Given the description of an element on the screen output the (x, y) to click on. 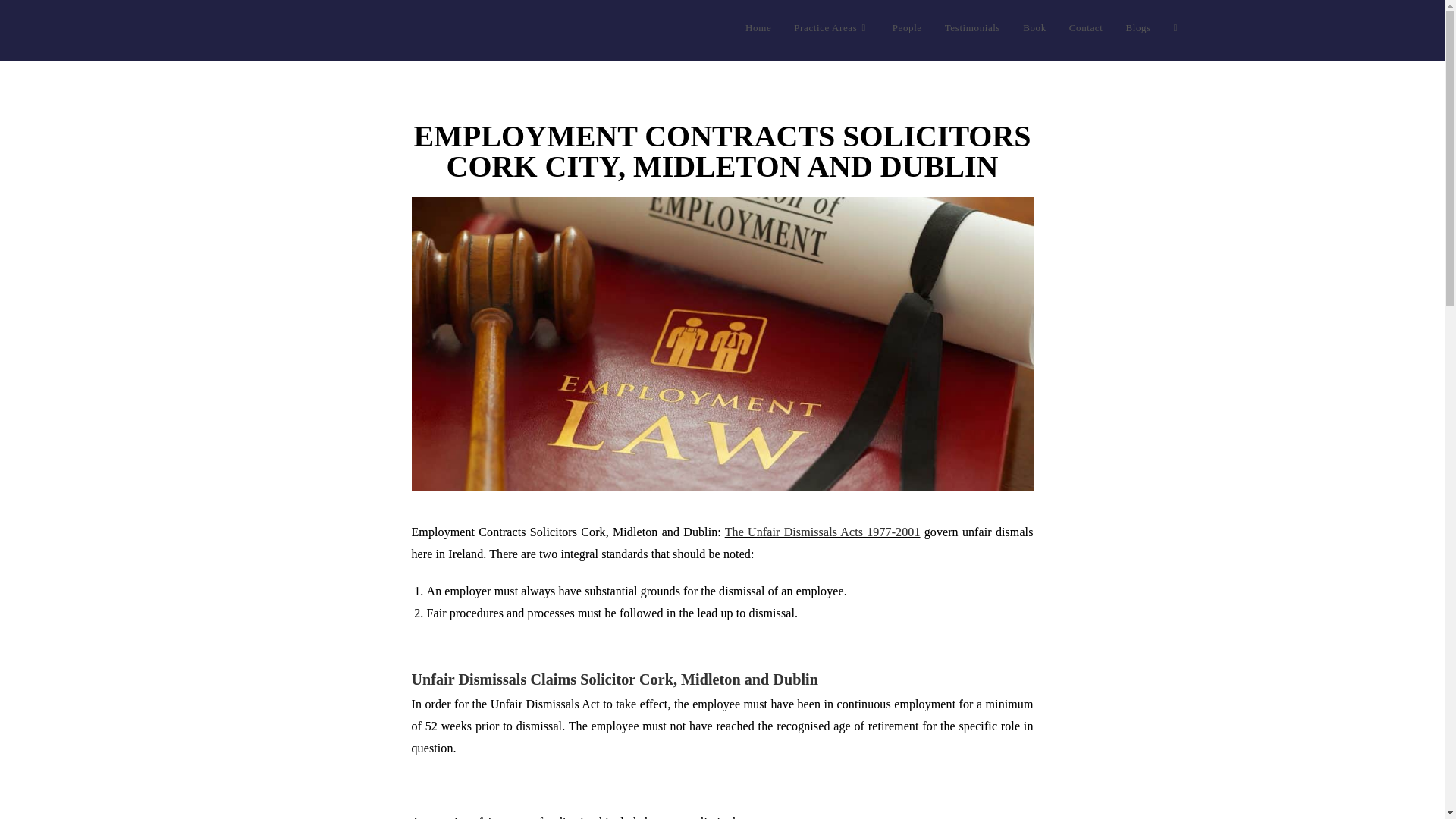
Practice Areas (831, 28)
People (906, 28)
Contact (1086, 28)
Testimonials (972, 28)
